Given the description of an element on the screen output the (x, y) to click on. 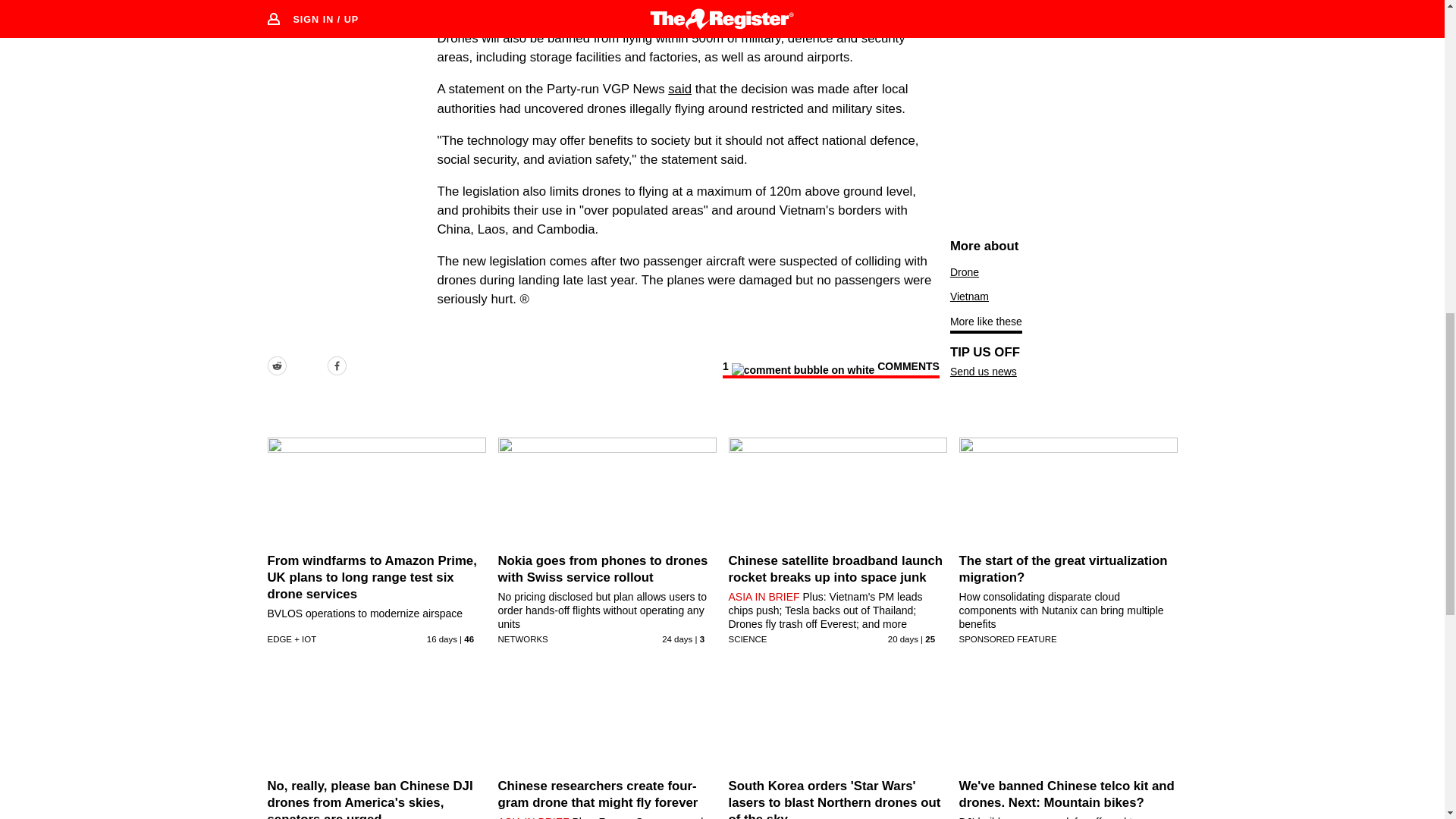
16 Aug 2024 8:32 (441, 638)
8 Aug 2024 11:34 (677, 638)
View comments on this article (830, 369)
12 Aug 2024 1:0 (903, 638)
